Given the description of an element on the screen output the (x, y) to click on. 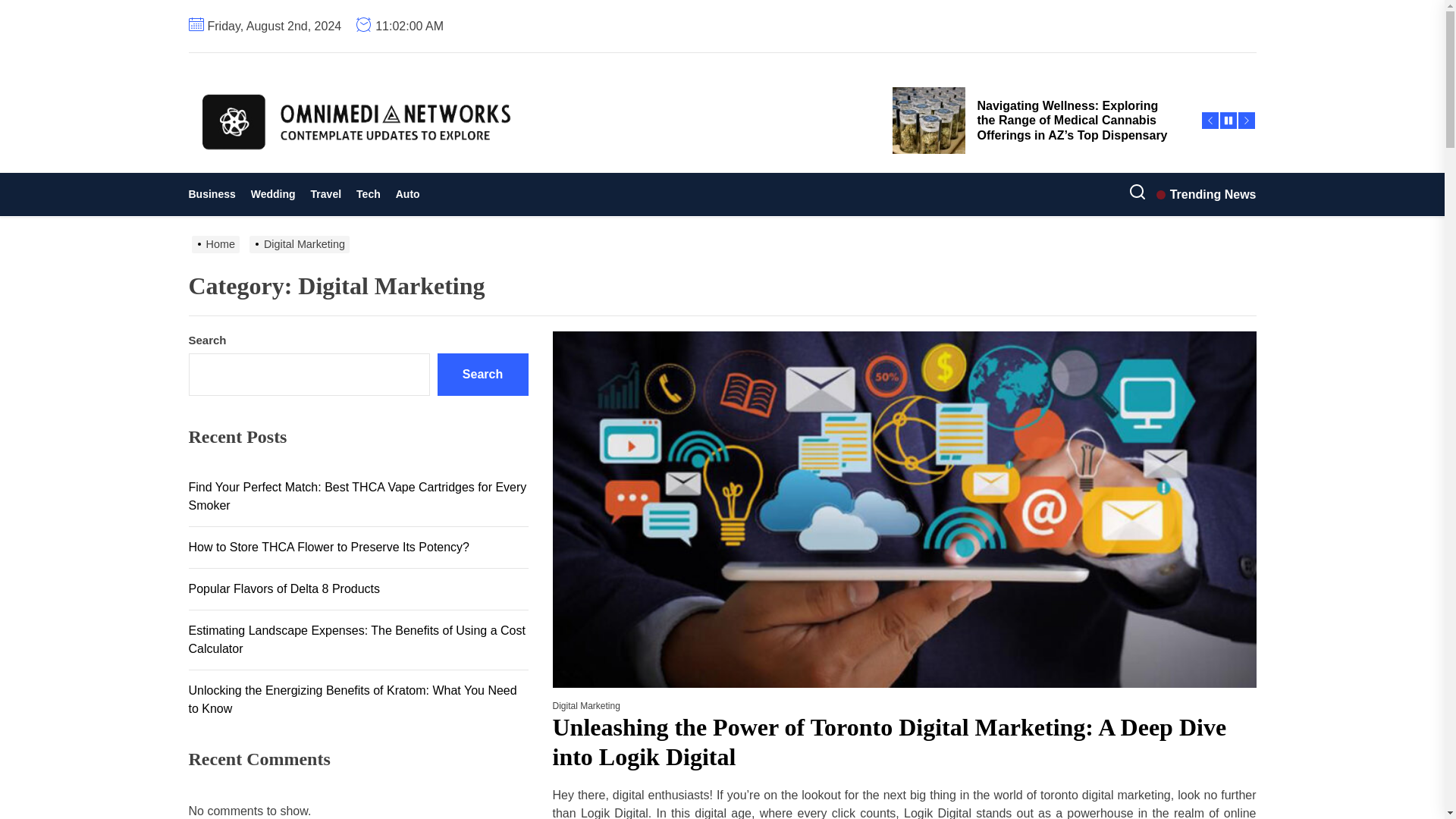
Business (215, 194)
Travel (325, 194)
Trending News (1206, 194)
OMNI MEDIA NETWORKS (426, 176)
Tech (368, 194)
Auto (408, 194)
Wedding (272, 194)
